Given the description of an element on the screen output the (x, y) to click on. 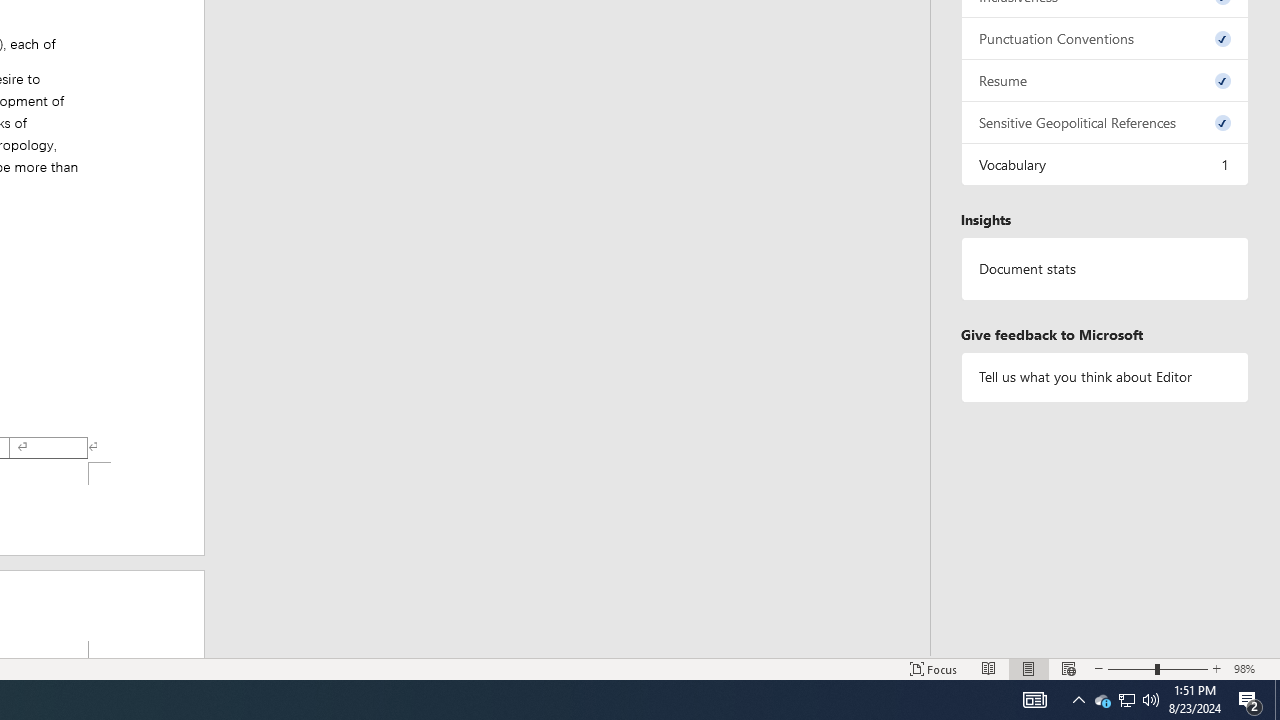
Tell us what you think about Editor (1105, 376)
Vocabulary, 1 issue. Press space or enter to review items. (1105, 164)
Document statistics (1105, 269)
Resume, 0 issues. Press space or enter to review items. (1105, 79)
